Given the description of an element on the screen output the (x, y) to click on. 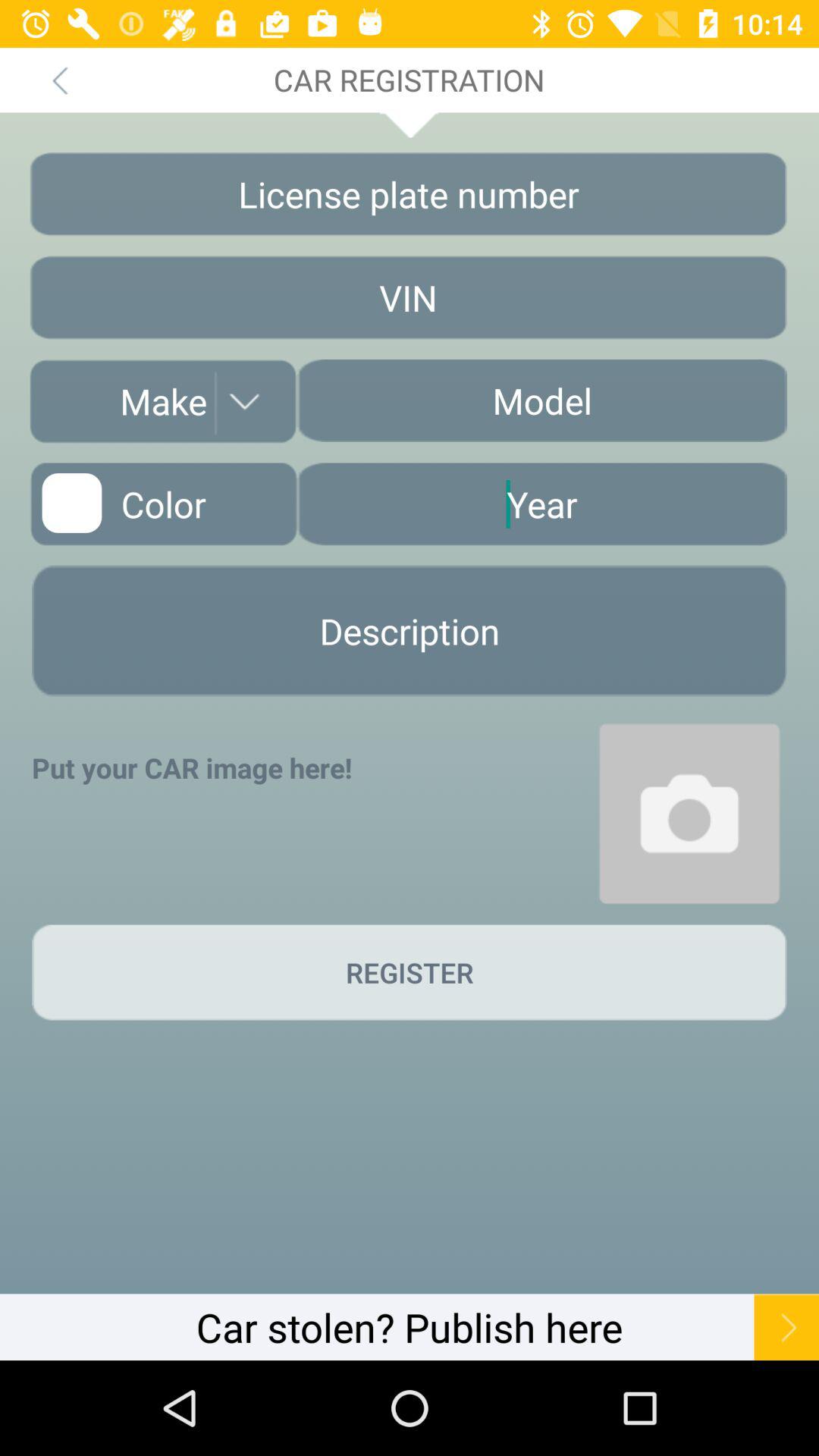
open car make menu (163, 401)
